Given the description of an element on the screen output the (x, y) to click on. 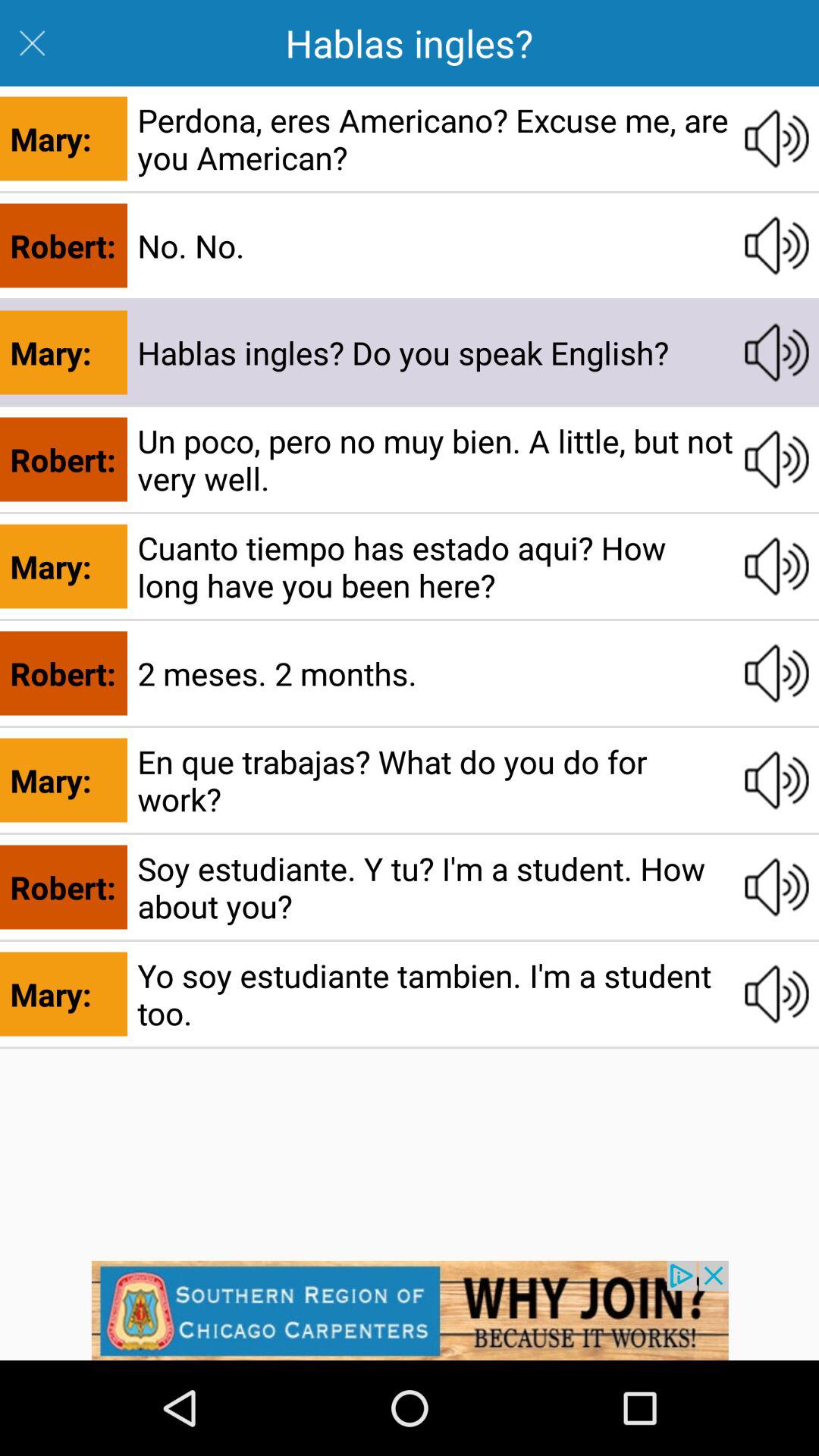
sound (776, 994)
